Given the description of an element on the screen output the (x, y) to click on. 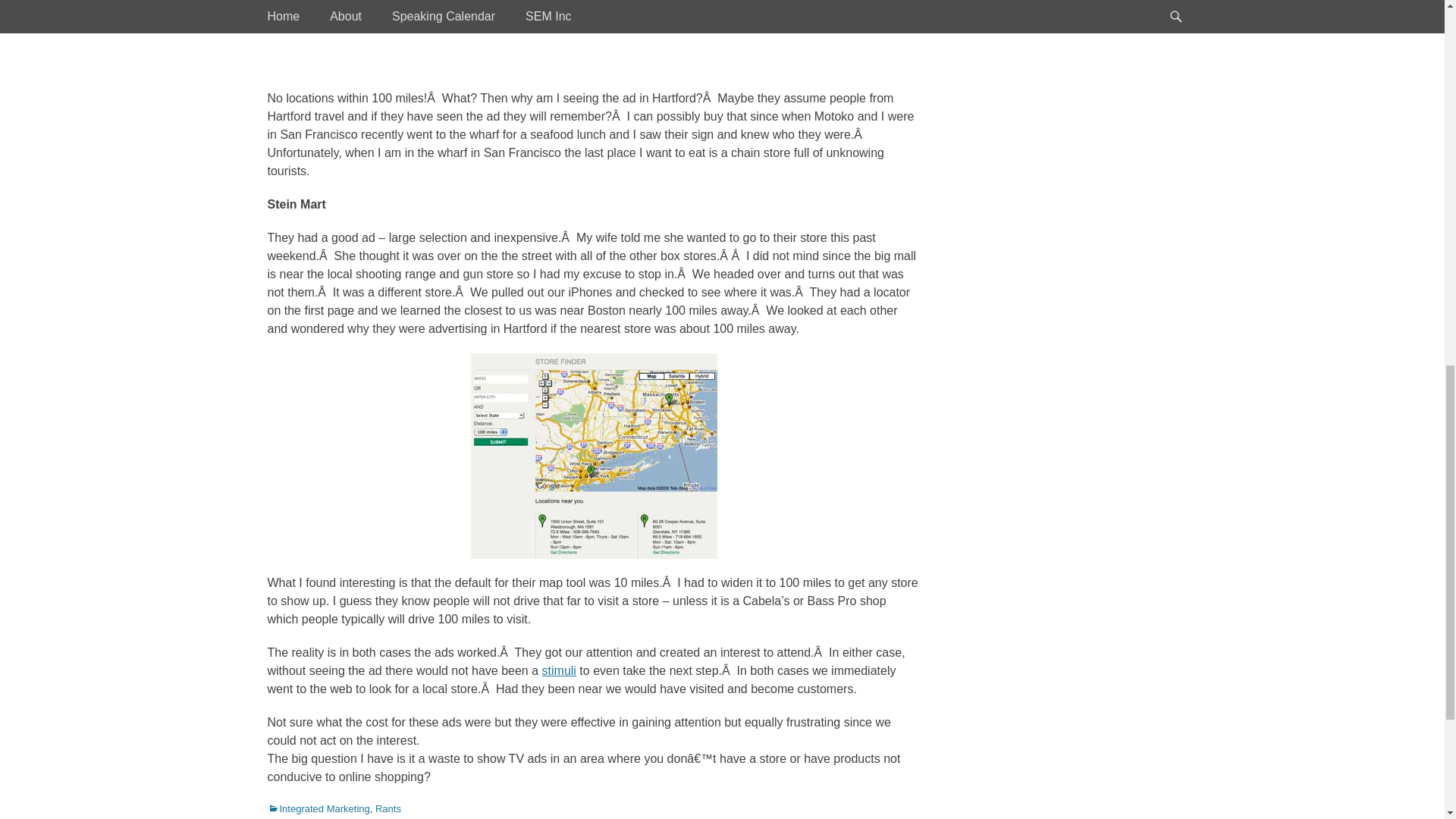
Rants (388, 808)
stimuli (558, 670)
Integrated Marketing (317, 808)
